Given the description of an element on the screen output the (x, y) to click on. 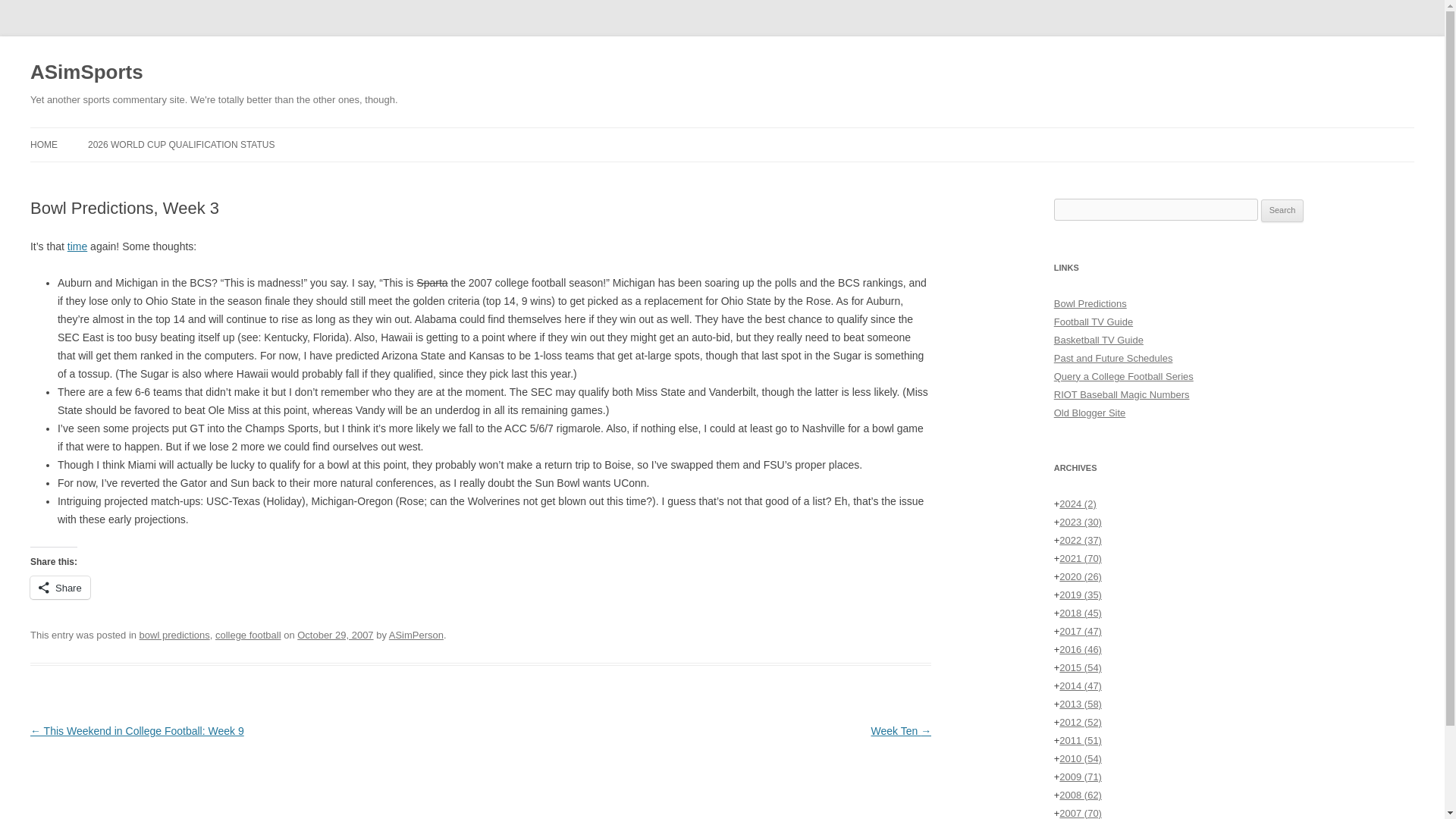
Search (1282, 210)
October 29, 2007 (334, 634)
View all posts by ASimPerson (416, 634)
Query a College Football Series (1123, 376)
Past and Future Schedules (1113, 357)
time (76, 246)
RIOT Baseball Magic Numbers (1121, 394)
ASimPerson (416, 634)
Football TV Guide (1093, 321)
bowl predictions (174, 634)
ASimSports (86, 72)
Search (1282, 210)
Bowl Predictions (1090, 303)
2026 WORLD CUP QUALIFICATION STATUS (181, 144)
